Given the description of an element on the screen output the (x, y) to click on. 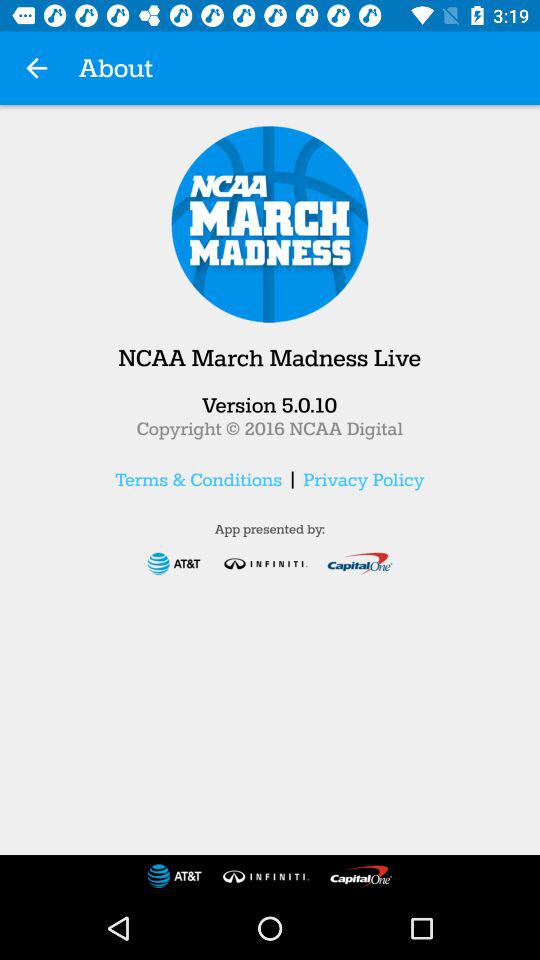
choose icon next to the about app (36, 68)
